Given the description of an element on the screen output the (x, y) to click on. 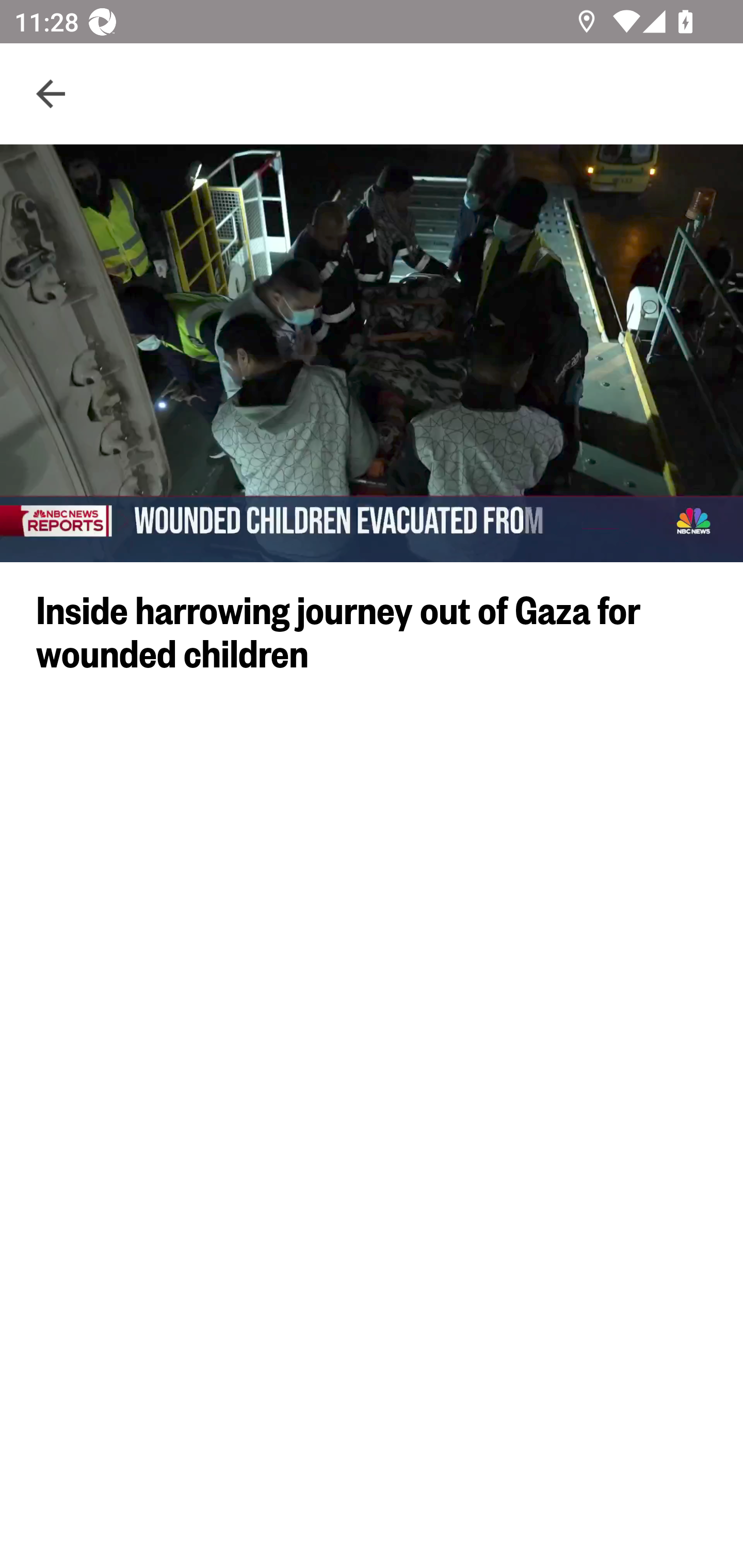
Navigate up (50, 93)
